Given the description of an element on the screen output the (x, y) to click on. 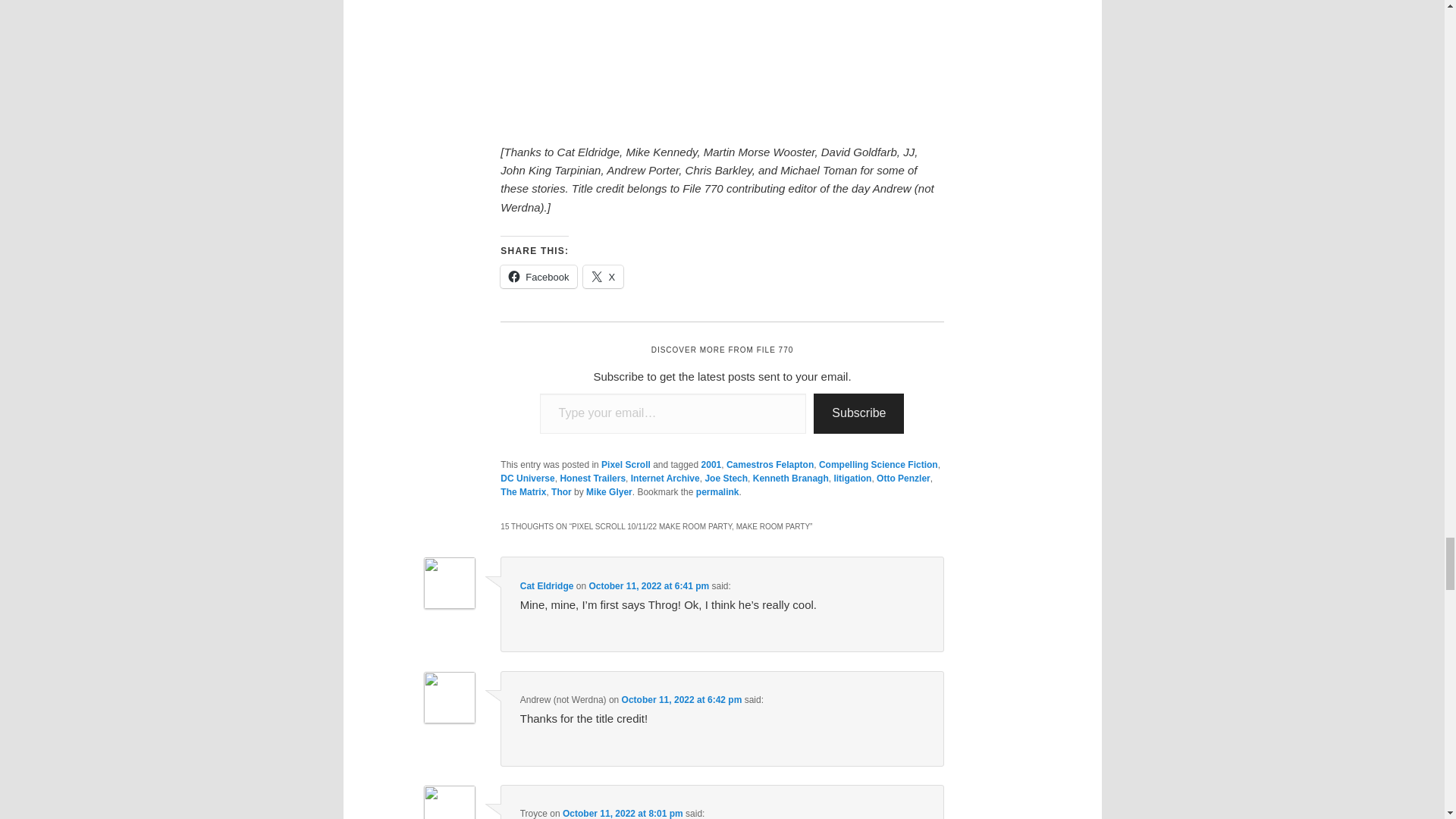
Click to share on X (603, 276)
Please fill in this field. (673, 413)
Click to share on Facebook (538, 276)
